Given the description of an element on the screen output the (x, y) to click on. 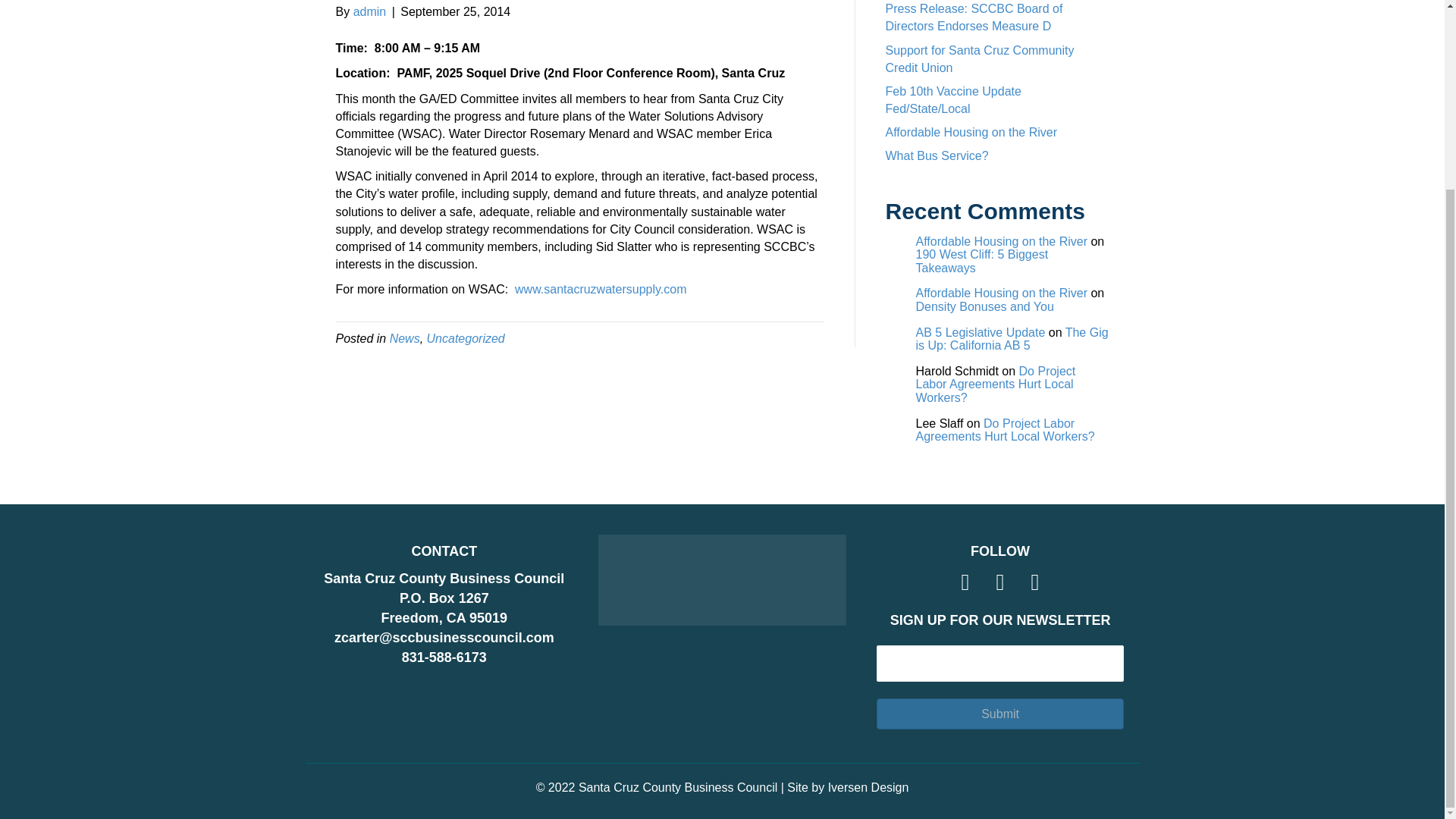
Submit (1000, 713)
Facebook (965, 582)
Twitter (1000, 582)
The Gig is Up: California AB 5 (1011, 338)
Affordable Housing on the River (1001, 241)
Density Bonuses and You (984, 306)
www.santacruzwatersupply.com (600, 288)
admin (370, 11)
Site by Iversen Design (847, 787)
What Bus Service? (936, 155)
